Given the description of an element on the screen output the (x, y) to click on. 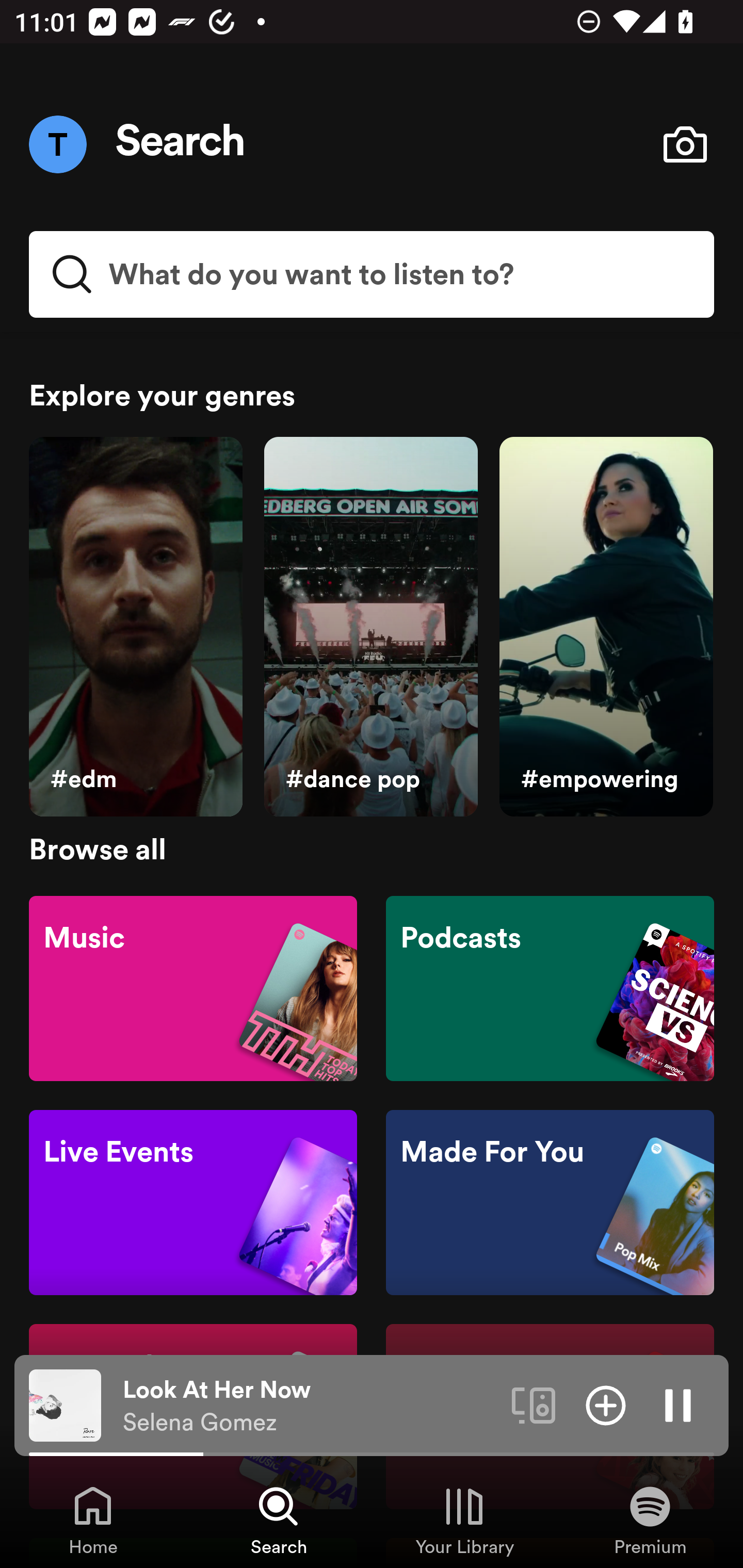
Menu (57, 144)
Open camera (685, 145)
Search (180, 144)
#edm (135, 626)
#dance pop (370, 626)
#empowering (606, 626)
Music (192, 987)
Podcasts (549, 987)
Live Events (192, 1202)
Made For You (549, 1202)
Look At Her Now Selena Gomez (309, 1405)
The cover art of the currently playing track (64, 1404)
Connect to a device. Opens the devices menu (533, 1404)
Add item (605, 1404)
Pause (677, 1404)
Home, Tab 1 of 4 Home Home (92, 1519)
Search, Tab 2 of 4 Search Search (278, 1519)
Your Library, Tab 3 of 4 Your Library Your Library (464, 1519)
Premium, Tab 4 of 4 Premium Premium (650, 1519)
